Given the description of an element on the screen output the (x, y) to click on. 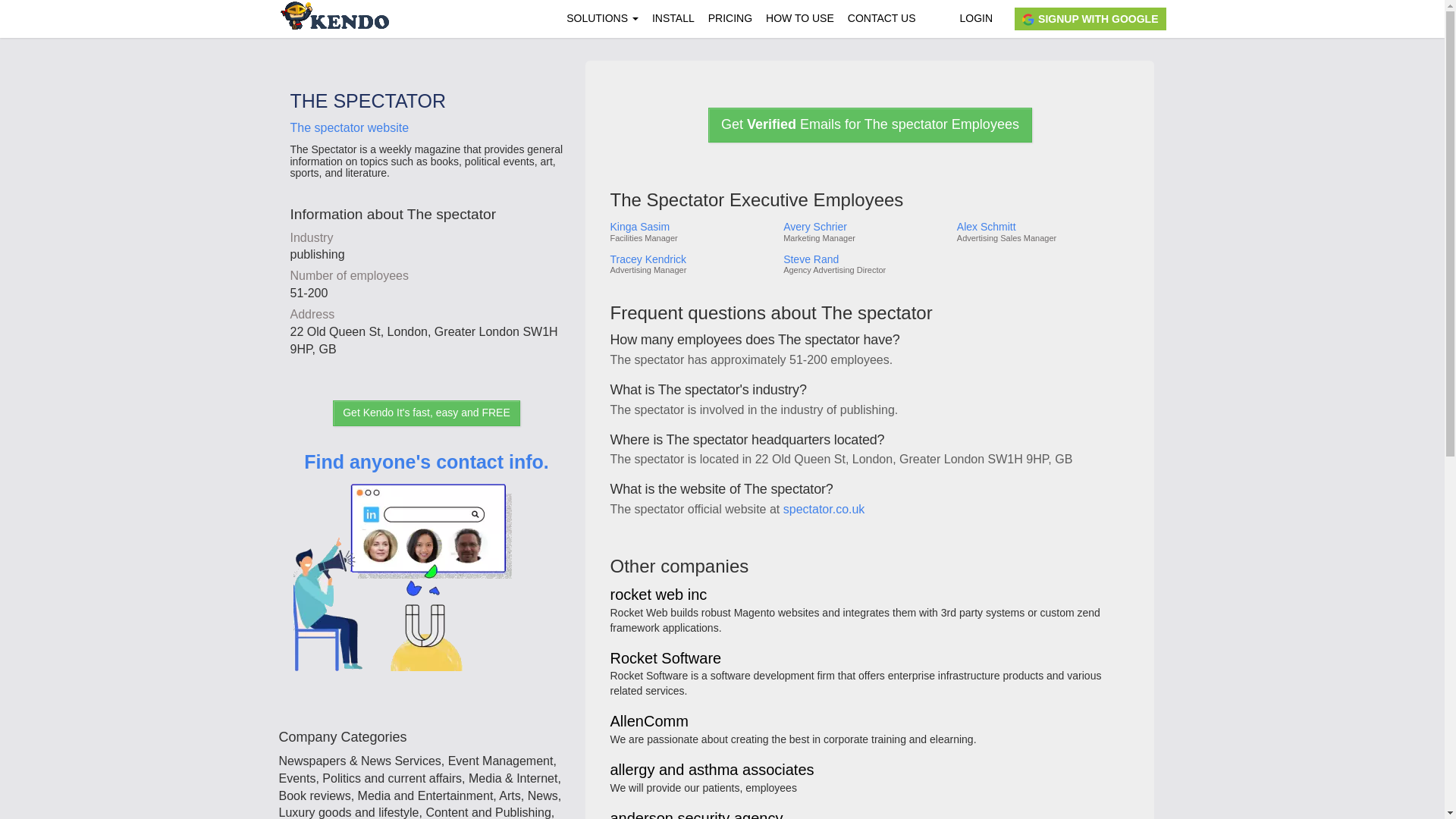
Get Kendo It's fast, easy and FREE (426, 412)
Steve Rand (863, 259)
Kinga Sasim (690, 226)
SOLUTIONS (602, 18)
LOGIN (975, 18)
AllenComm (648, 721)
INSTALL (673, 18)
The spectator website (349, 127)
Rocket Software (665, 658)
Find anyone's contact info. (425, 582)
HOW TO USE (799, 18)
CONTACT US (882, 18)
SIGNUP WITH GOOGLE (1090, 18)
Alex Schmitt (1041, 226)
rocket web inc (658, 594)
